Given the description of an element on the screen output the (x, y) to click on. 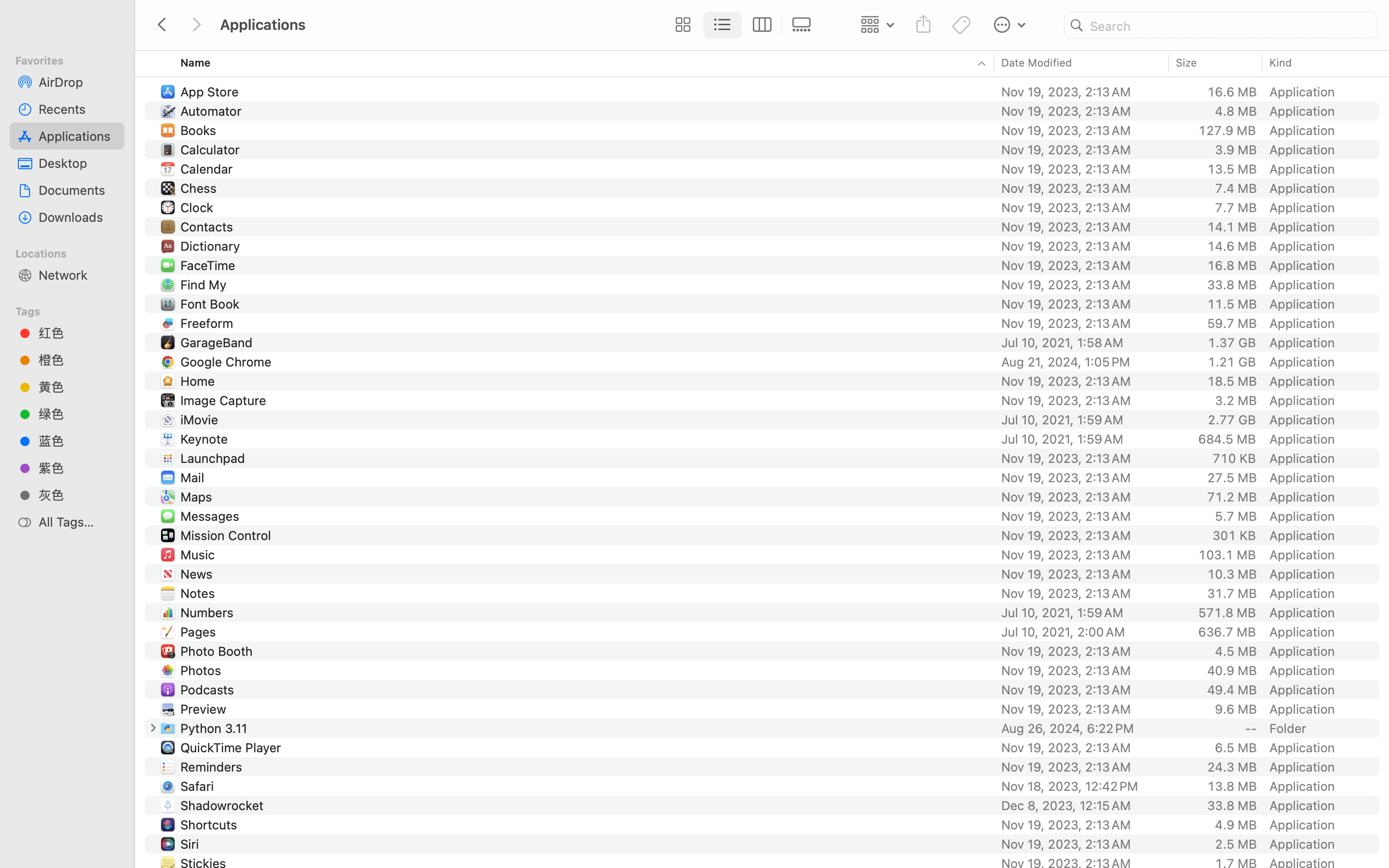
Numbers Element type: AXTextField (209, 612)
7.4 MB Element type: AXStaticText (1235, 187)
Photo Booth Element type: AXTextField (218, 650)
Messages Element type: AXTextField (211, 515)
Date Modified Element type: AXStaticText (1036, 62)
